Given the description of an element on the screen output the (x, y) to click on. 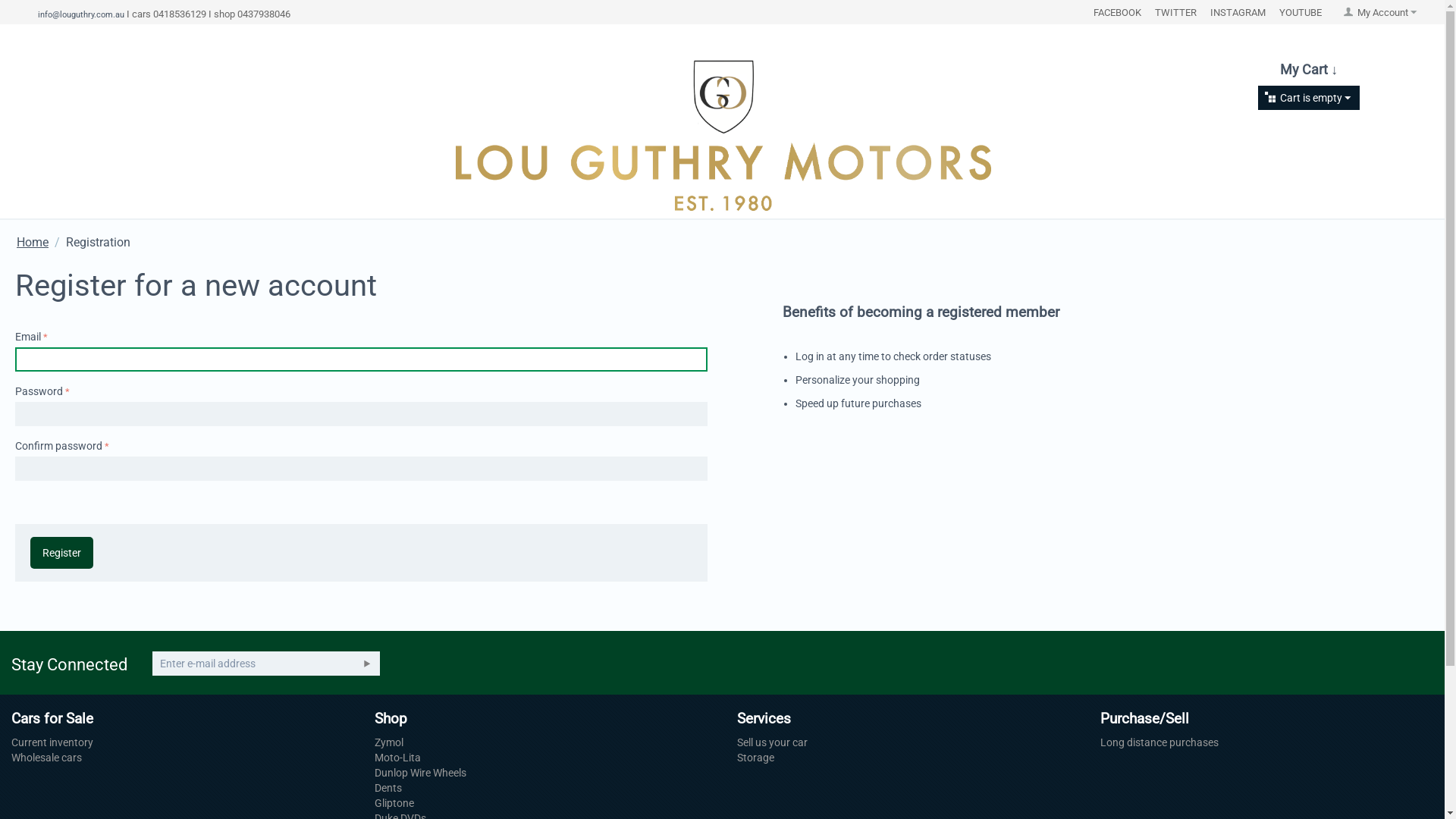
Cart is empty Element type: text (1307, 97)
  My Account Element type: text (1379, 12)
FACEBOOK Element type: text (1117, 12)
Dunlop Wire Wheels Element type: text (420, 772)
Sell us your car Element type: text (772, 742)
Moto-Lita Element type: text (397, 757)
YOUTUBE Element type: text (1300, 12)
TWITTER Element type: text (1175, 12)
INSTAGRAM Element type: text (1237, 12)
Go Element type: hover (366, 663)
Gliptone Element type: text (394, 803)
Register Element type: text (61, 552)
Long distance purchases Element type: text (1159, 742)
Home Element type: text (32, 242)
Wholesale cars Element type: text (46, 757)
Dents Element type: text (387, 787)
Zymol Element type: text (388, 742)
Storage Element type: text (755, 757)
Lou Guthry Element type: hover (721, 135)
info@louguthry.com.au Element type: text (80, 14)
Current inventory Element type: text (52, 742)
